Given the description of an element on the screen output the (x, y) to click on. 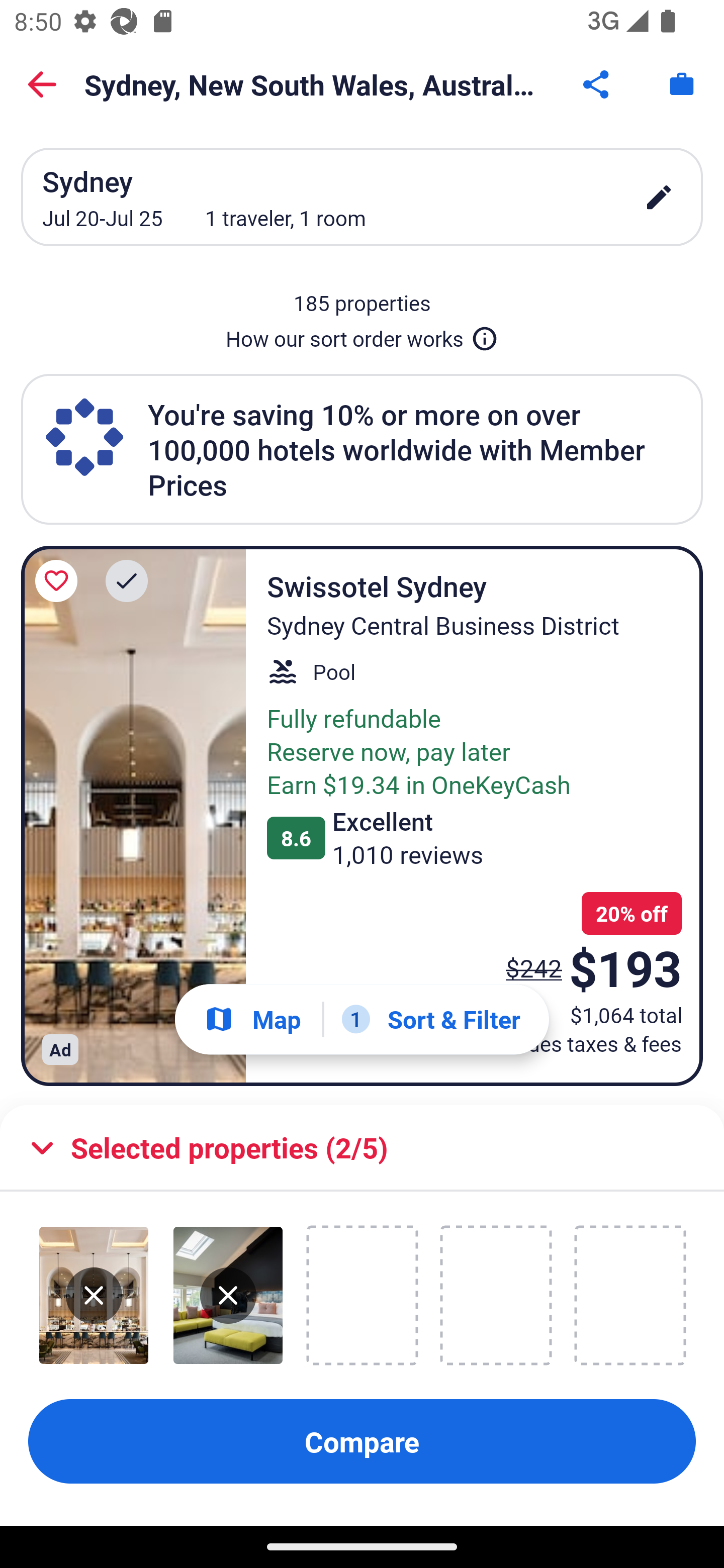
Back (42, 84)
Share Button (597, 84)
Trips. Button (681, 84)
Sydney Jul 20-Jul 25 1 traveler, 1 room edit (361, 196)
How our sort order works (361, 334)
Save Swissotel Sydney to a trip (59, 580)
Swissotel Sydney (133, 815)
$242 The price was $242 (533, 967)
1 Sort & Filter 1 Filter applied. Filters Button (430, 1018)
Show map Map Show map Button (252, 1018)
Unselect Swissotel Sydney (93, 1295)
Unselect Ovolo Woolloomooloo (227, 1295)
Compare Properties Compare (361, 1440)
